Given the description of an element on the screen output the (x, y) to click on. 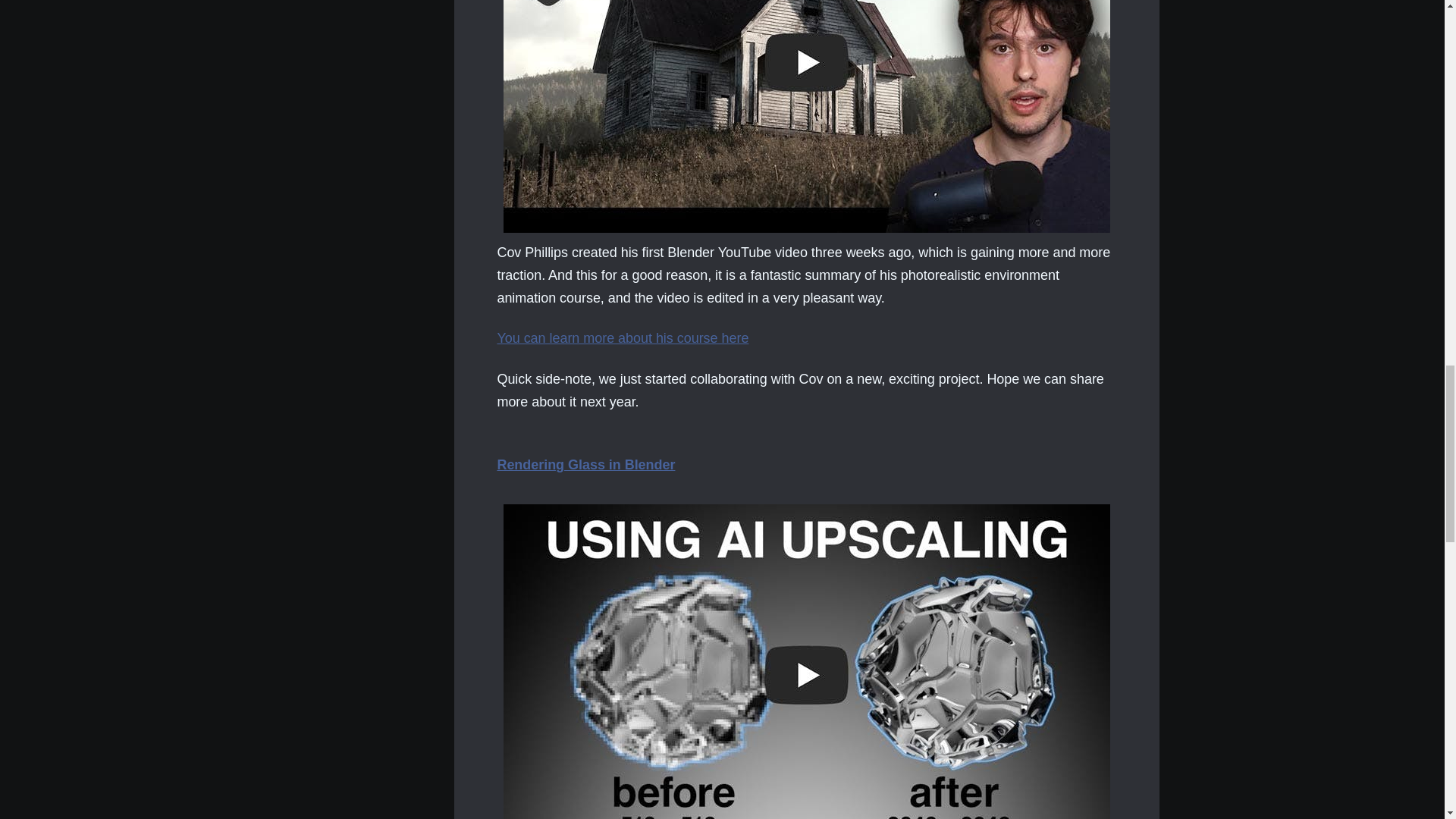
Rendering Glass in Blender (585, 464)
You can learn more about his course here (622, 337)
